Given the description of an element on the screen output the (x, y) to click on. 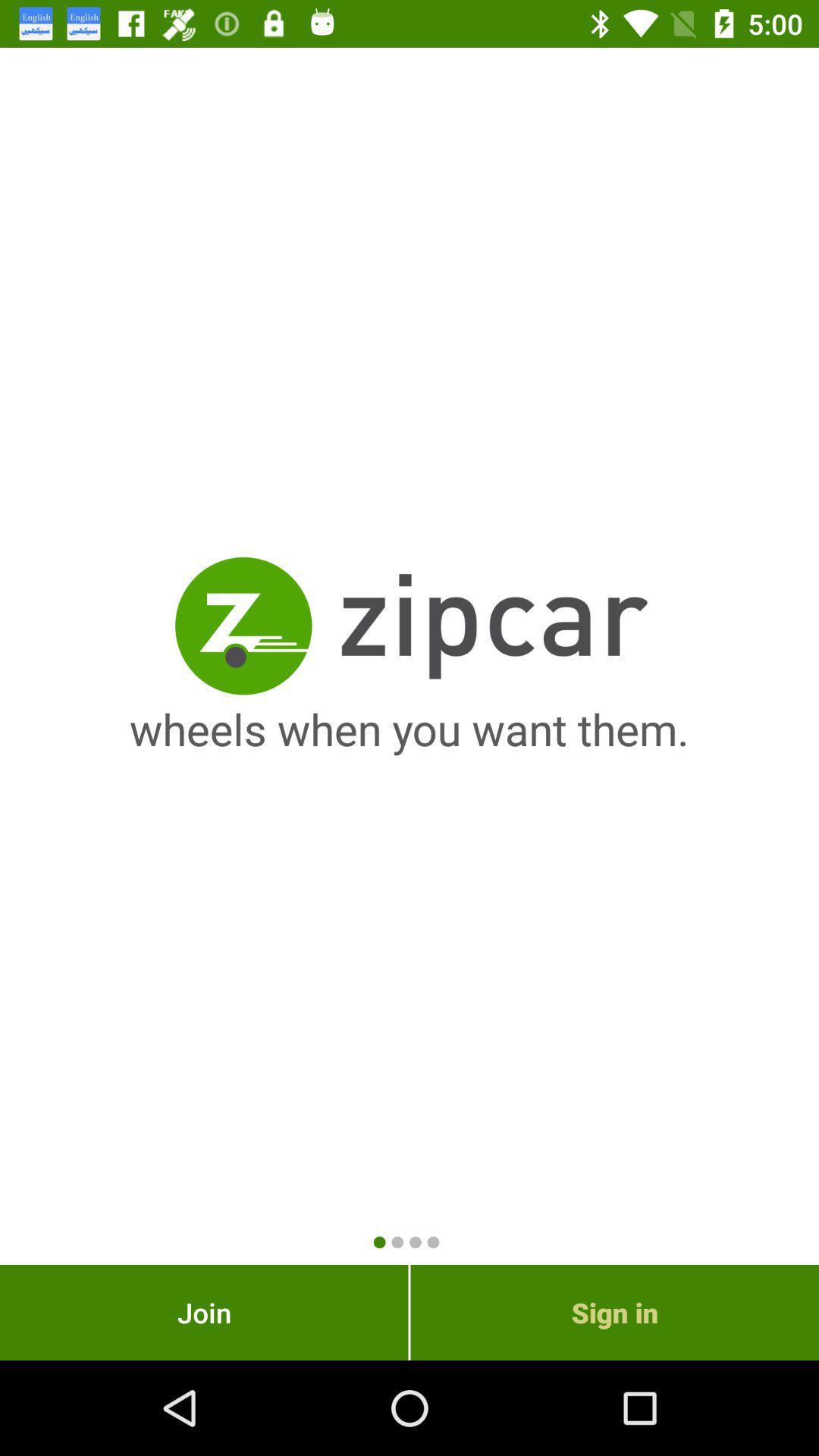
turn off item to the left of sign in icon (204, 1312)
